Given the description of an element on the screen output the (x, y) to click on. 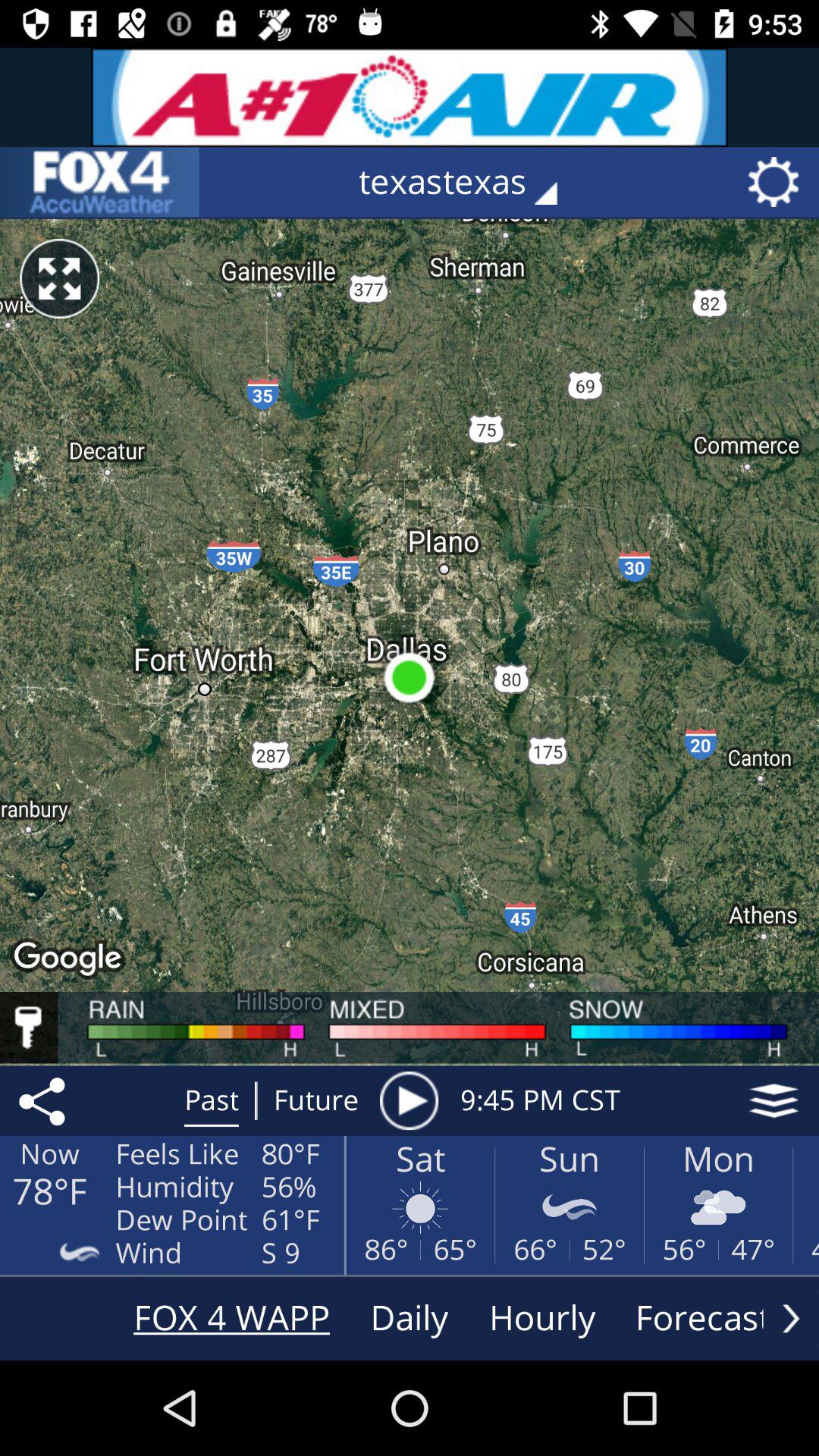
select the item to the left of 9 45 pm (409, 1100)
